Given the description of an element on the screen output the (x, y) to click on. 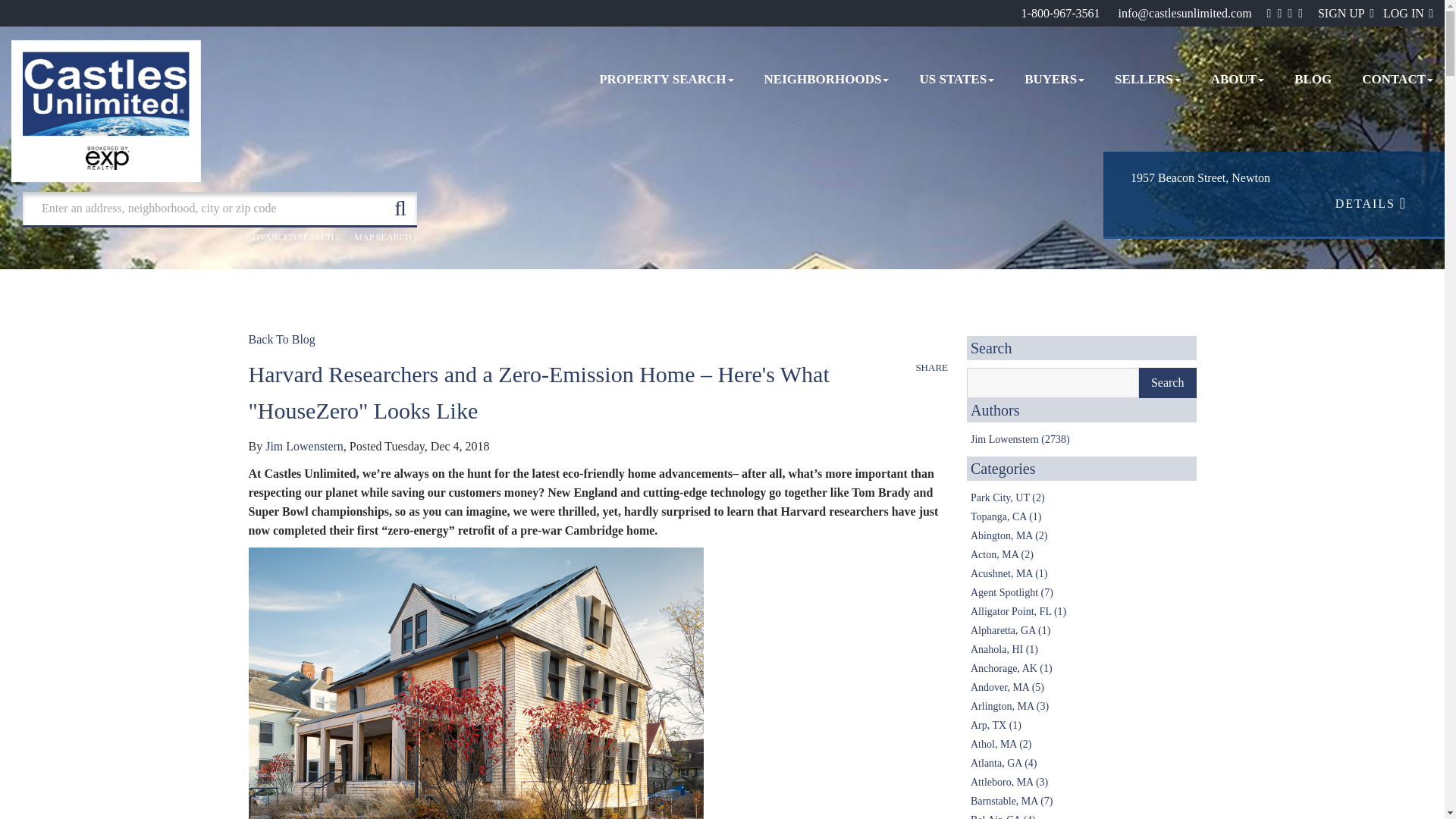
Search (1167, 382)
US STATES (956, 80)
PROPERTY SEARCH (665, 80)
LOG IN (1407, 12)
SIGN UP (1345, 12)
1-800-967-3561 (1061, 12)
NEIGHBORHOODS (826, 80)
